Given the description of an element on the screen output the (x, y) to click on. 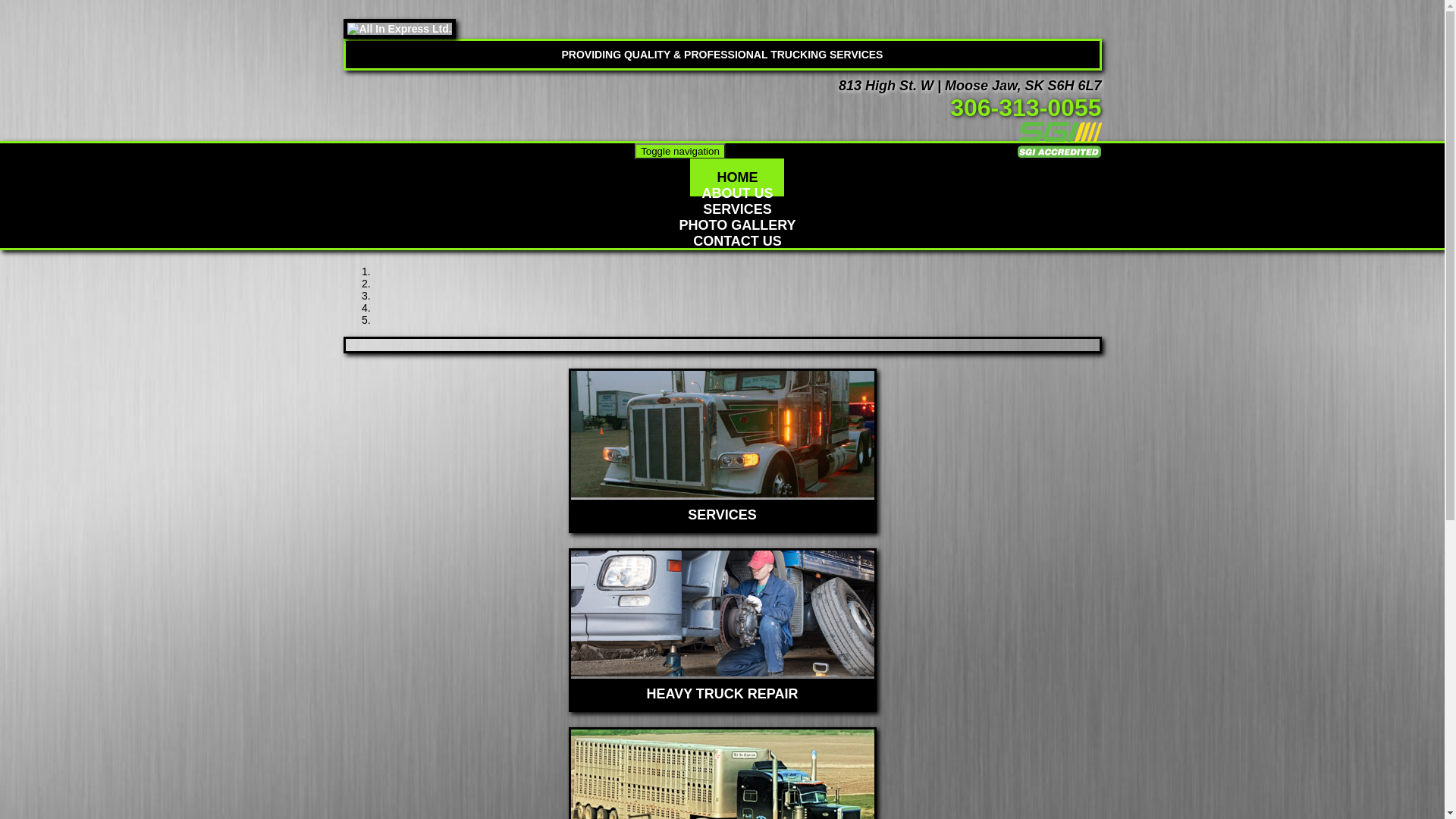
PHOTO GALLERY Element type: text (737, 225)
HOME Element type: text (737, 177)
CONTACT US Element type: text (737, 241)
HEAVY TRUCK REPAIR Element type: text (721, 687)
Toggle navigation Element type: text (679, 151)
SERVICES Element type: text (737, 209)
SERVICES Element type: text (721, 508)
306-313-0055 Element type: text (1025, 107)
  Element type: text (942, 107)
ABOUT US Element type: text (736, 193)
